Given the description of an element on the screen output the (x, y) to click on. 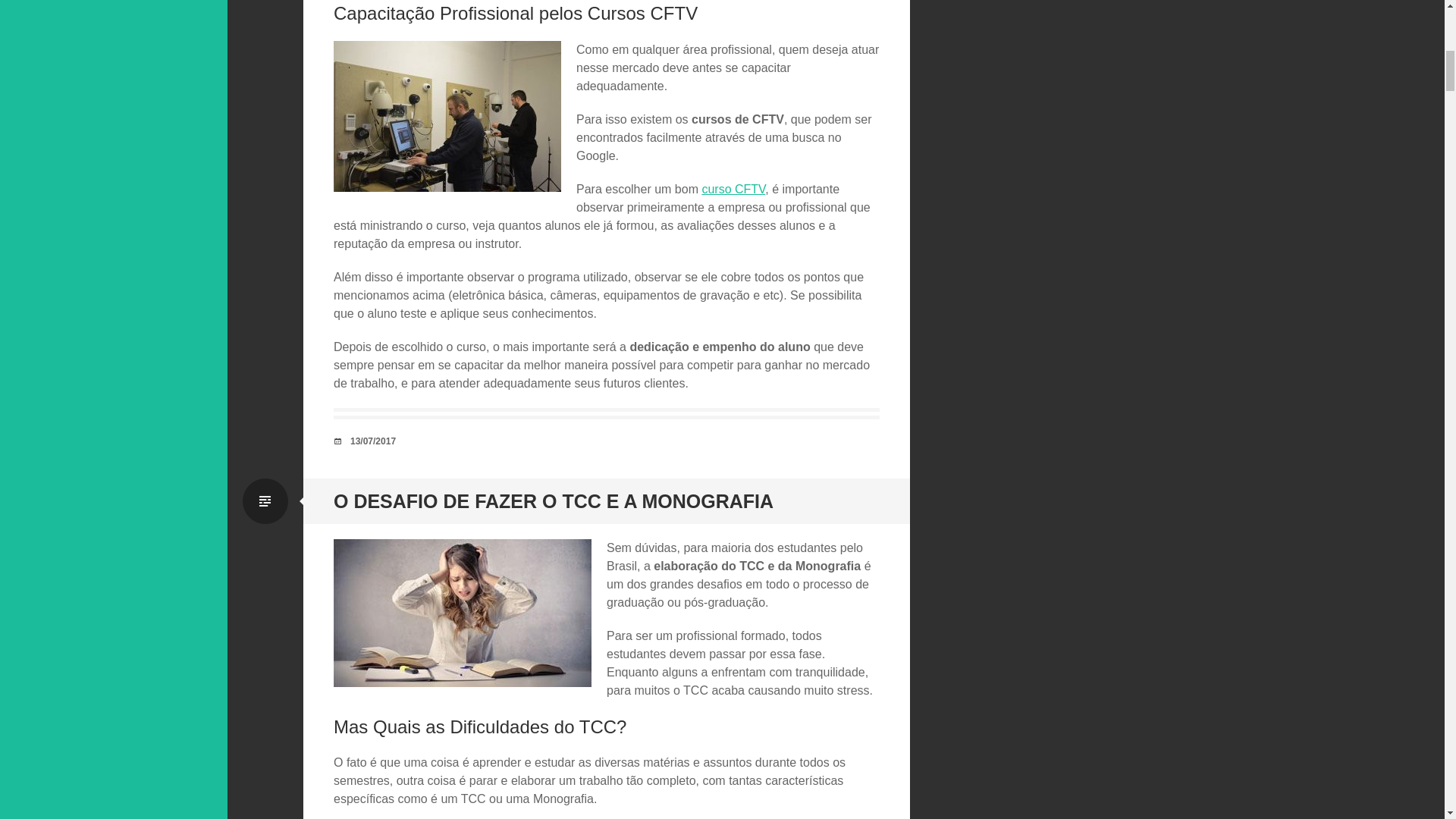
O DESAFIO DE FAZER O TCC E A MONOGRAFIA (553, 500)
3:26 pm (373, 440)
curso CFTV (733, 188)
